Given the description of an element on the screen output the (x, y) to click on. 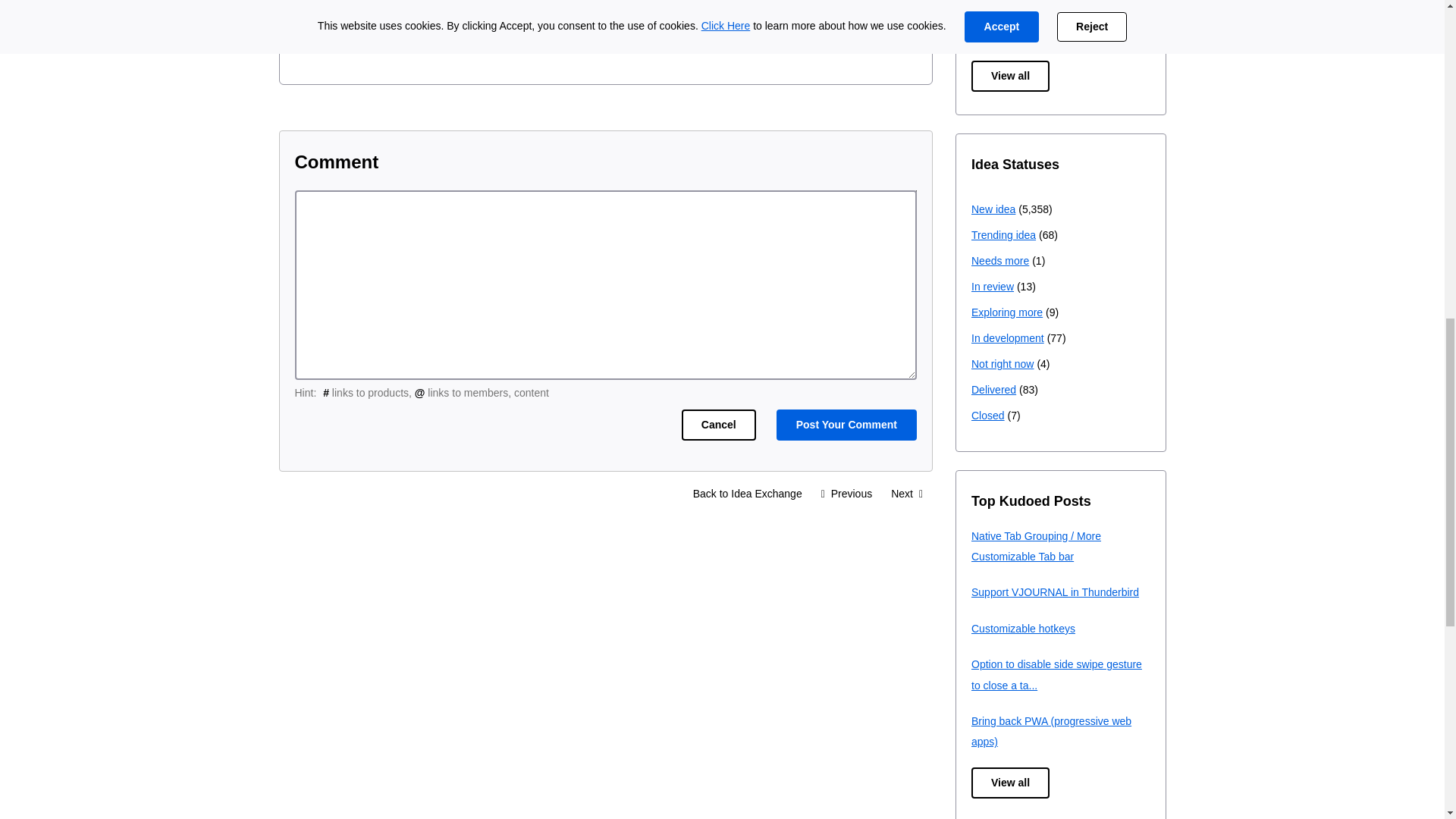
Post Your Comment (846, 424)
Posted on (605, 5)
Cancel (718, 424)
